Given the description of an element on the screen output the (x, y) to click on. 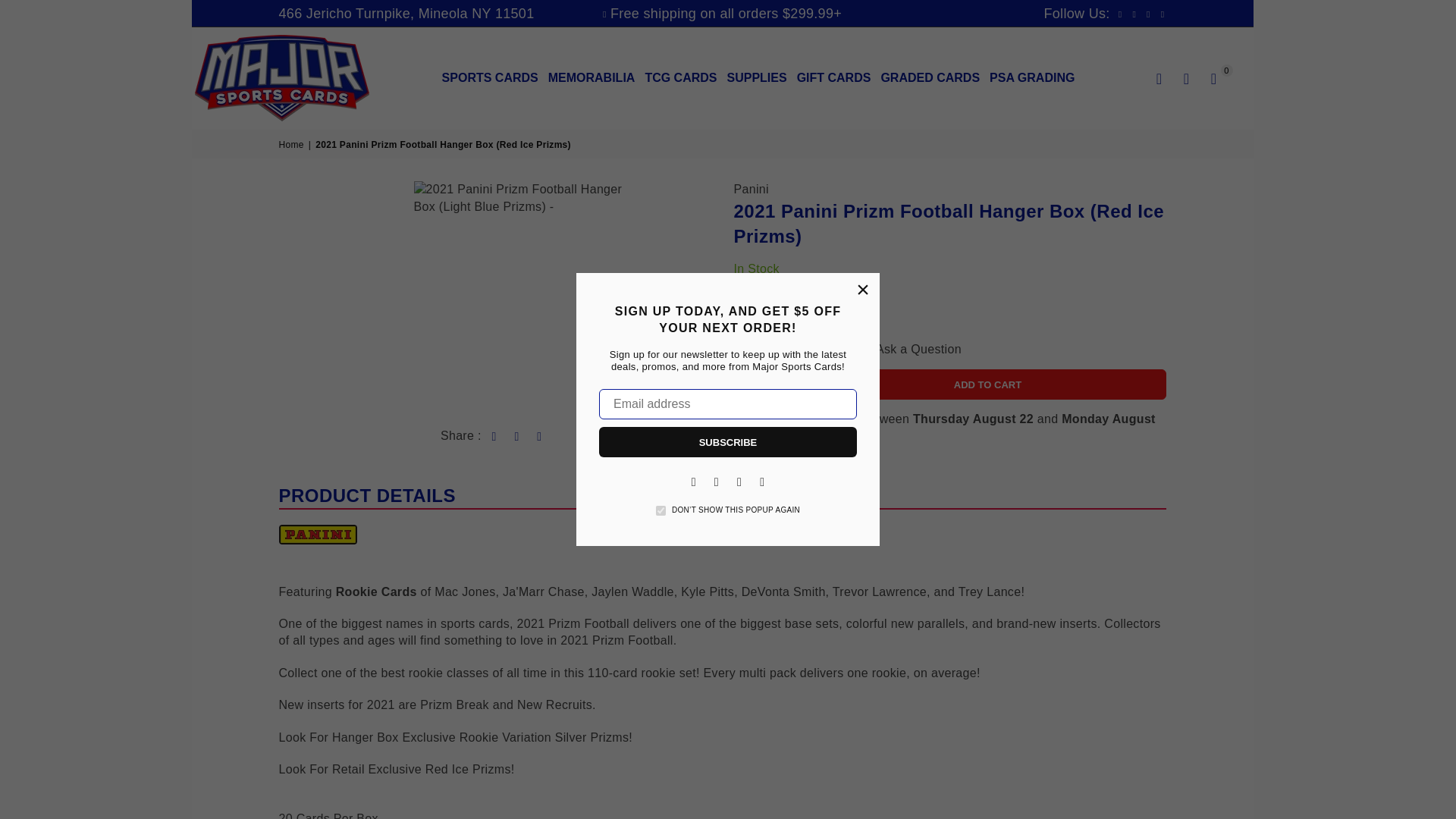
Major Sports Cards on Instagram (716, 481)
MEMORABILIA (591, 77)
SUBSCRIBE (727, 441)
MAJOR SPORTS CARDS (261, 78)
Major Sports Cards on Vimeo (762, 481)
Major Sports Cards on YouTube (739, 481)
Vimeo (762, 481)
on (660, 510)
SUPPLIES (756, 77)
Instagram (716, 481)
